Given the description of an element on the screen output the (x, y) to click on. 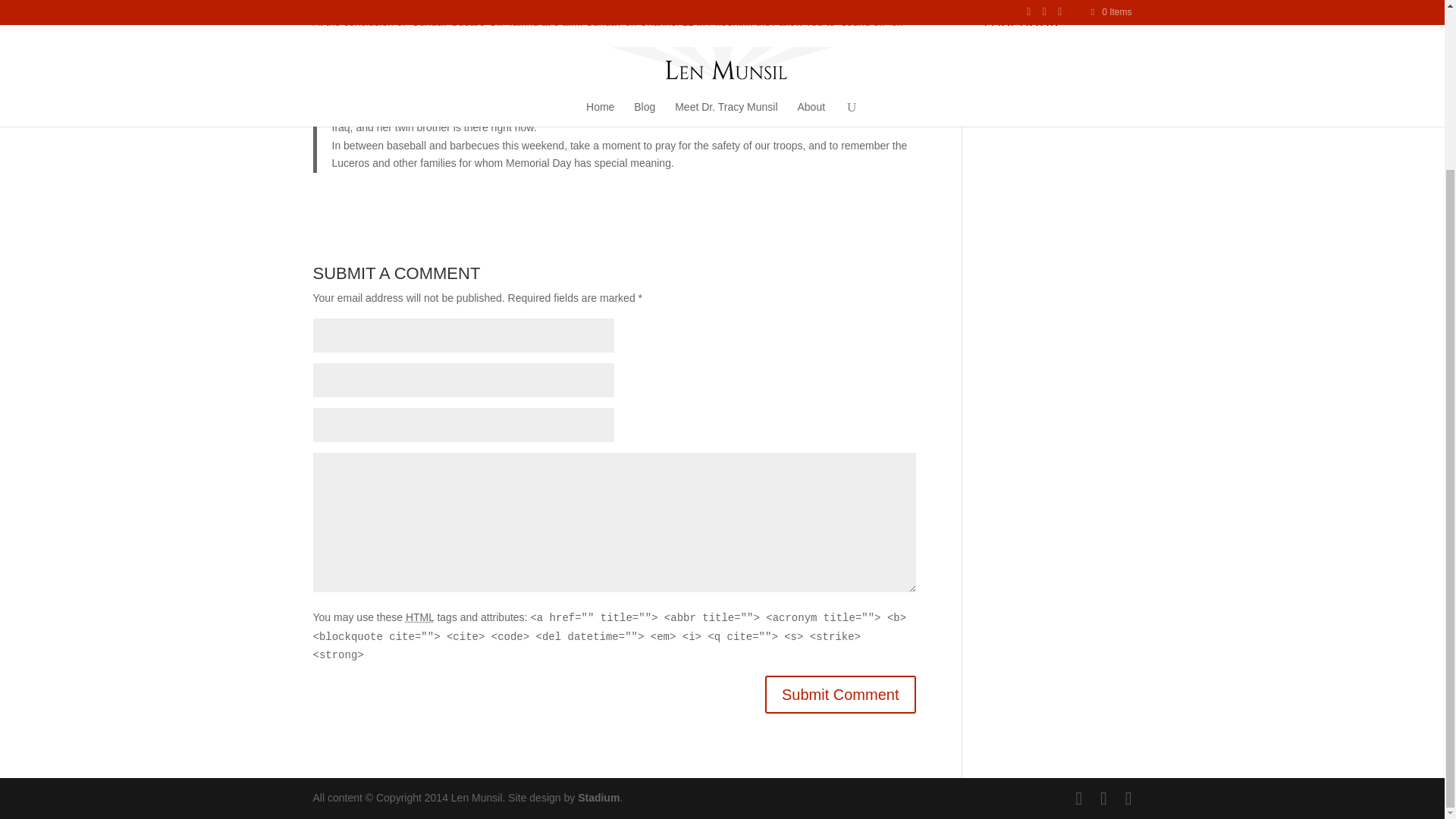
Stadium (599, 797)
Submit Comment (840, 694)
Marine Lance Corporal Joshua Lucero (662, 91)
Submit Comment (840, 694)
HyperText Markup Language (419, 616)
